Given the description of an element on the screen output the (x, y) to click on. 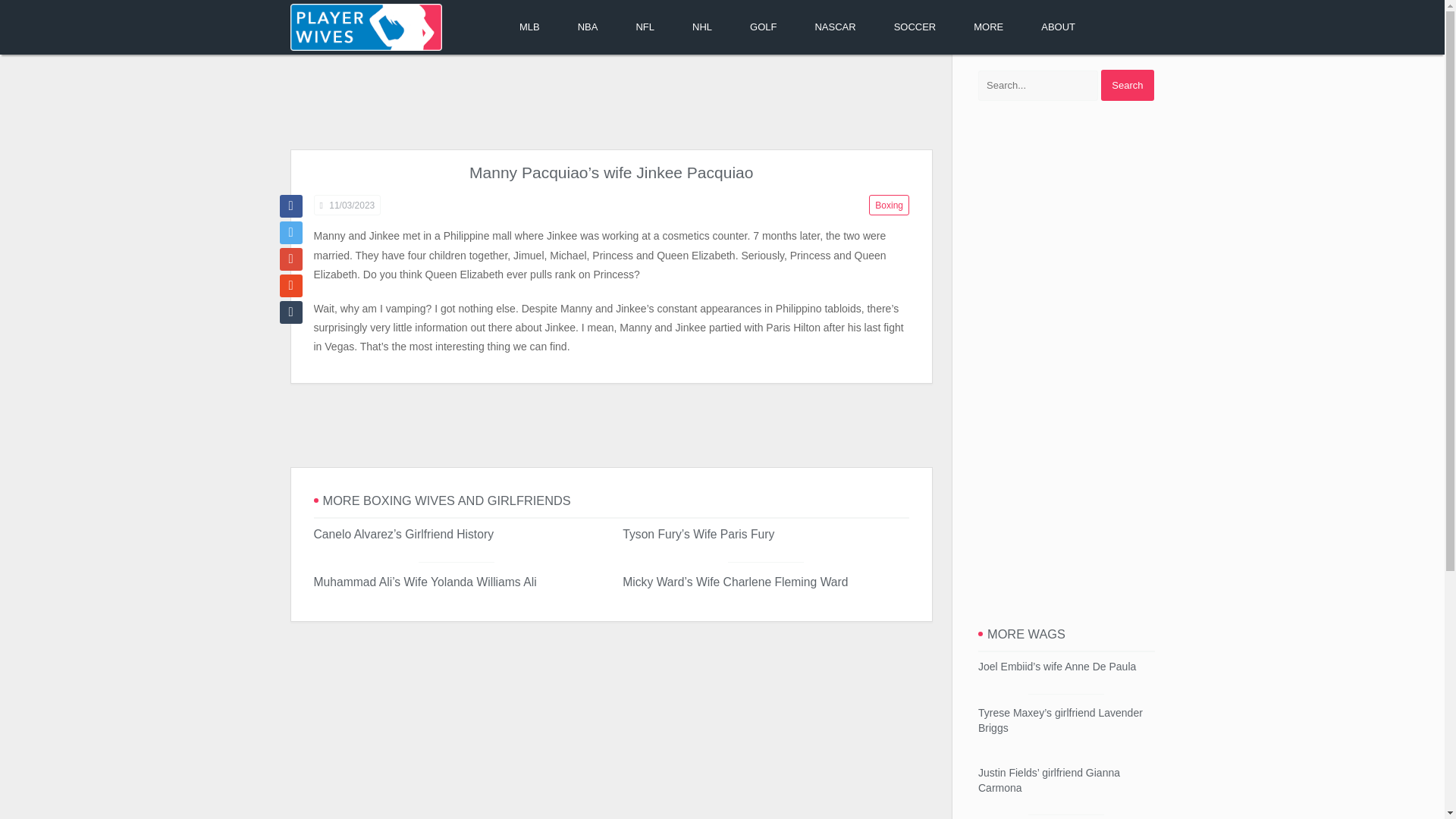
Golf Wives (762, 27)
search (1127, 84)
About PlayerWives.com (1058, 27)
SOCCER (915, 27)
search (1127, 84)
GOLF (762, 27)
NBA (588, 27)
NHL (701, 27)
ABOUT (1058, 27)
NASCAR (834, 27)
NBA Wives (588, 27)
Advertisement (610, 425)
Boxing (888, 204)
More Wives (988, 27)
Boxing (888, 204)
